Given the description of an element on the screen output the (x, y) to click on. 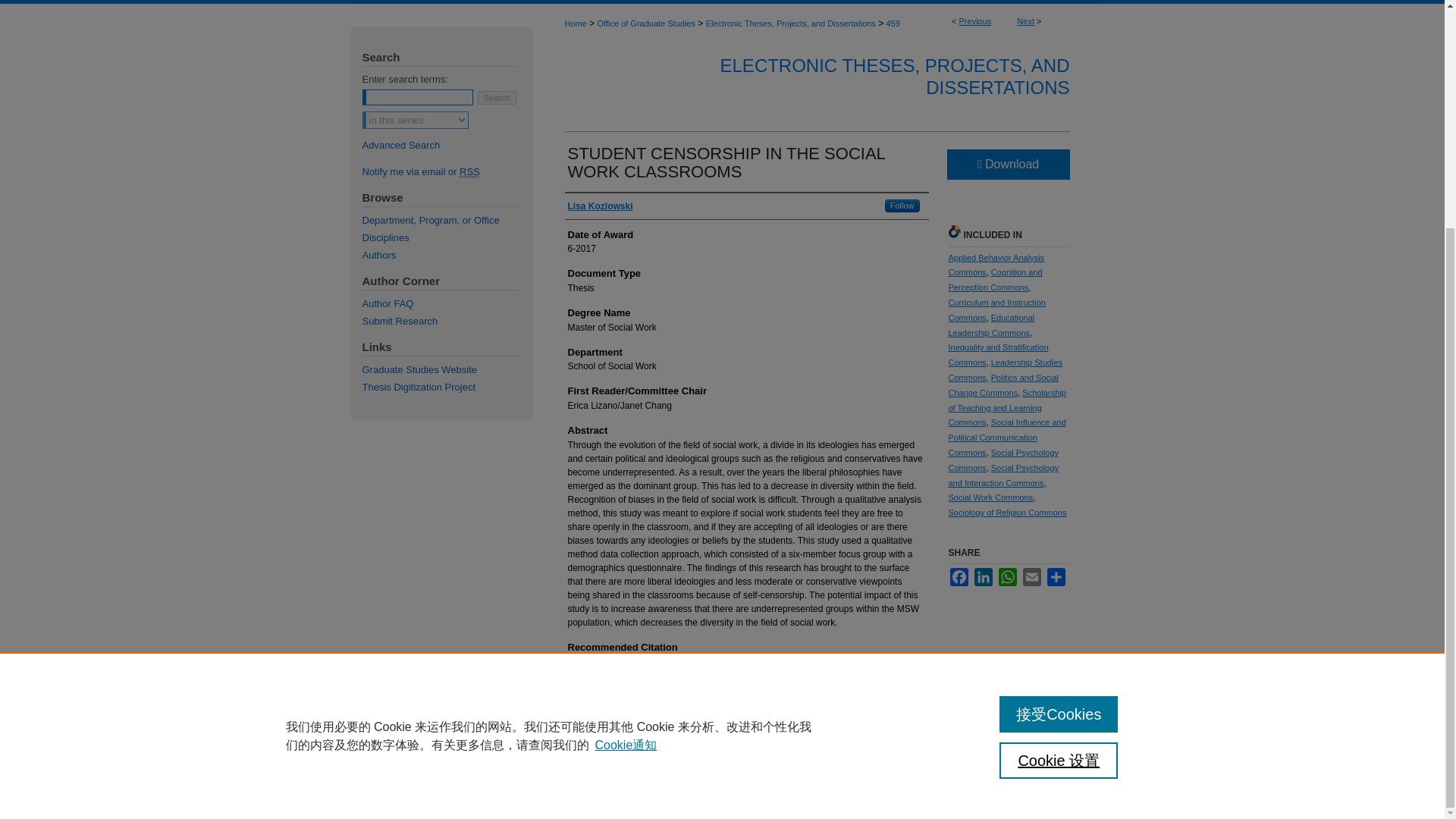
Sociology of Religion Commons (1006, 511)
Curriculum and Instruction Commons (996, 310)
Cognition and Perception Commons (994, 279)
Social Work Commons (989, 497)
Facebook (958, 577)
Applied Behavior Analysis Commons (995, 265)
FAQ (457, 2)
My Account (509, 2)
Inequality and Stratification Commons (997, 354)
Applied Behavior Analysis Commons (995, 265)
Follow Lisa Kozlowski (902, 205)
My Account (509, 2)
STUDENT CENSORSHIP IN THE SOCIAL WORK CLASSROOMS (726, 162)
Social Psychology Commons (1002, 459)
Home (575, 22)
